Given the description of an element on the screen output the (x, y) to click on. 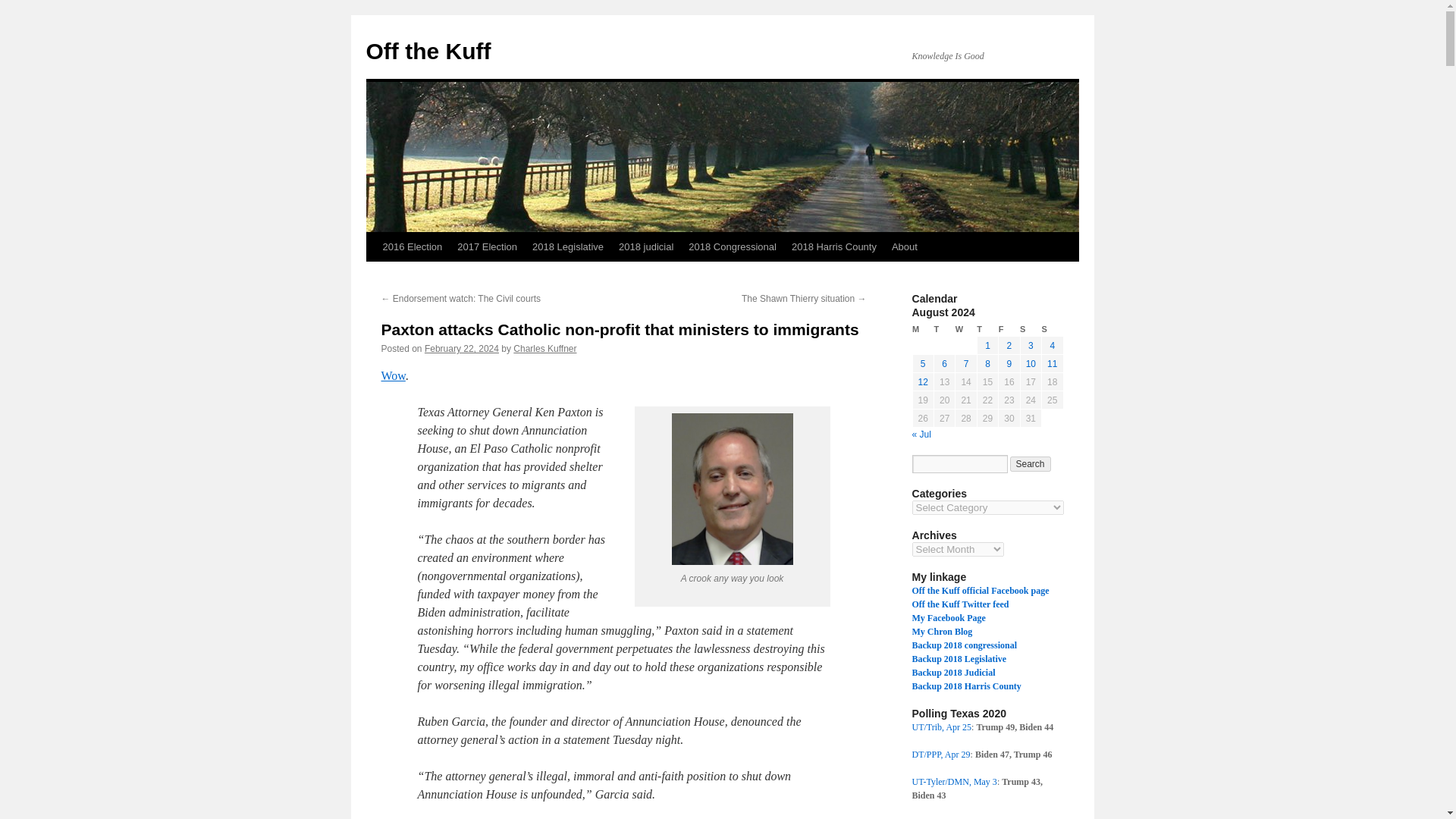
Wow (392, 375)
Search (1030, 463)
Off the Kuff (427, 50)
2018 Legislative (567, 246)
Sunday (1052, 329)
2016 Election (411, 246)
Thursday (986, 329)
2018 judicial (646, 246)
Monday (922, 329)
About (903, 246)
